Given the description of an element on the screen output the (x, y) to click on. 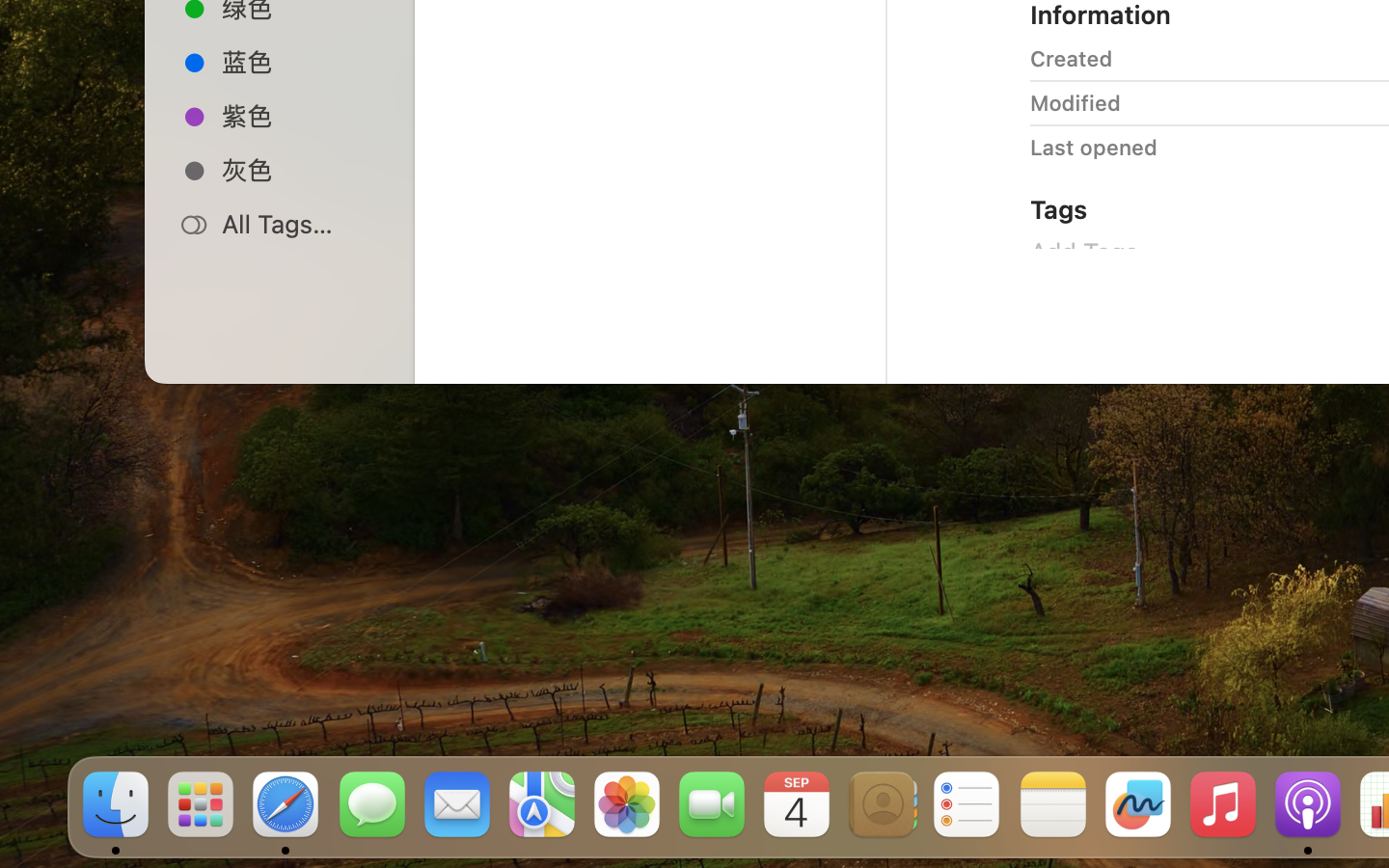
Created Element type: AXStaticText (1071, 57)
蓝色 Element type: AXStaticText (299, 61)
紫色 Element type: AXStaticText (299, 115)
Last opened Element type: AXStaticText (1093, 146)
All Tags… Element type: AXStaticText (299, 223)
